Given the description of an element on the screen output the (x, y) to click on. 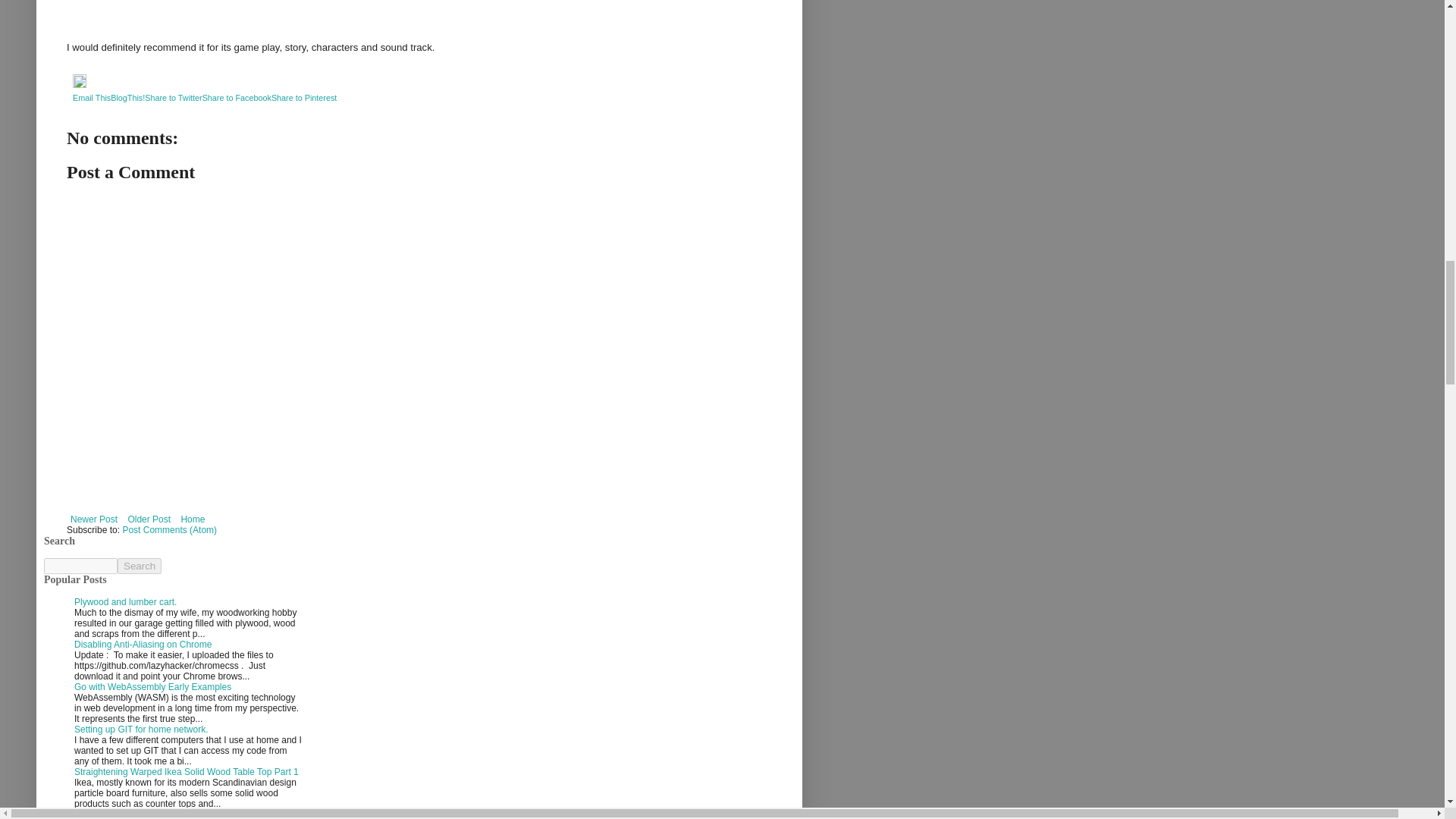
Search (139, 565)
Adjustable Dado Jig (114, 814)
Share to Twitter (173, 97)
Setting up GIT for home network. (141, 728)
search (80, 565)
Edit Post (78, 84)
Share to Facebook (236, 97)
Share to Pinterest (303, 97)
Email This (91, 97)
Share to Twitter (173, 97)
Go with WebAssembly Early Examples (152, 686)
Older Post (148, 519)
Newer Post (93, 519)
Search (139, 565)
Newer Post (93, 519)
